Given the description of an element on the screen output the (x, y) to click on. 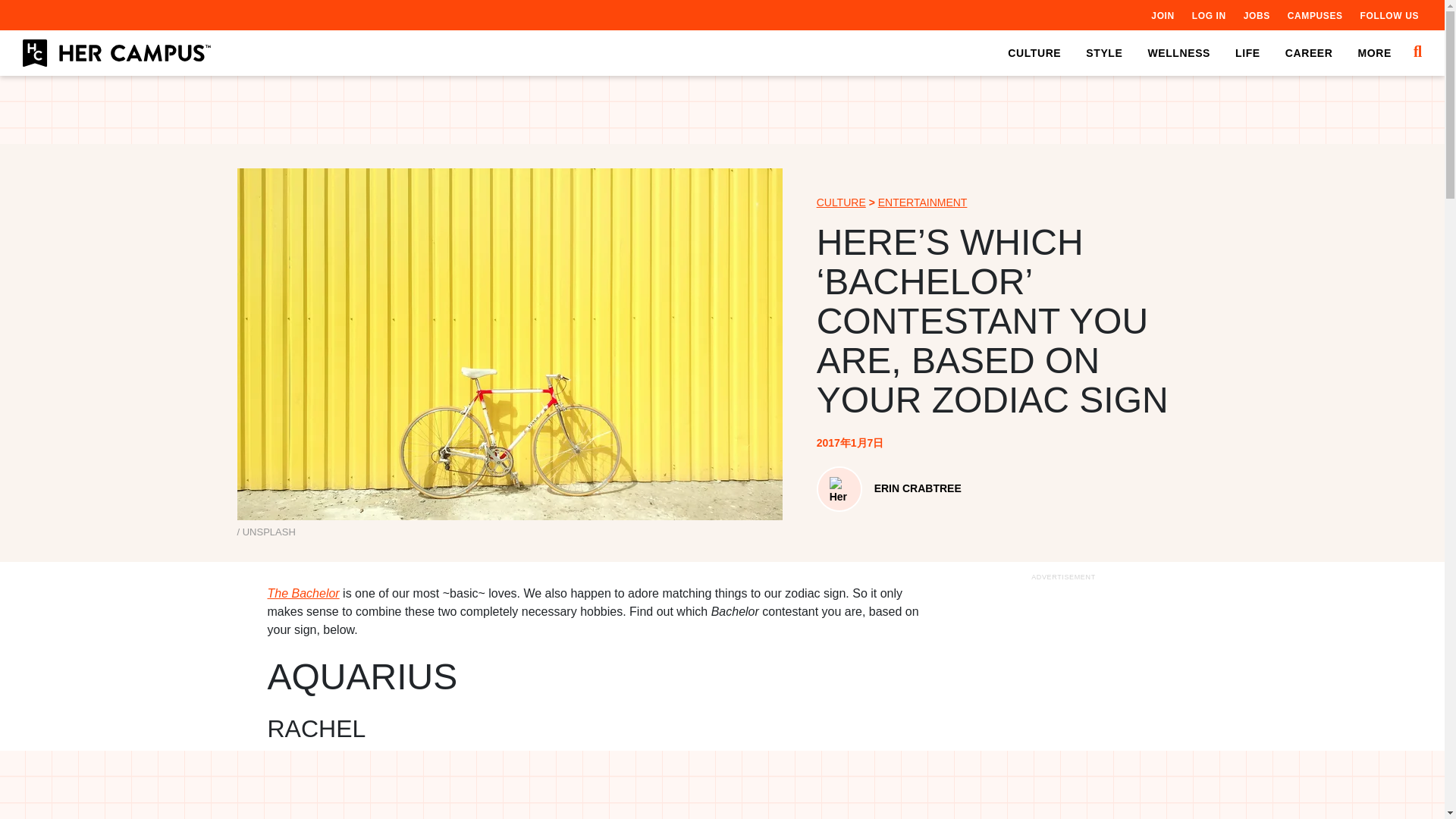
JOBS (1256, 15)
LOG IN (1208, 15)
JOIN (1162, 15)
CAMPUSES (1314, 15)
